Given the description of an element on the screen output the (x, y) to click on. 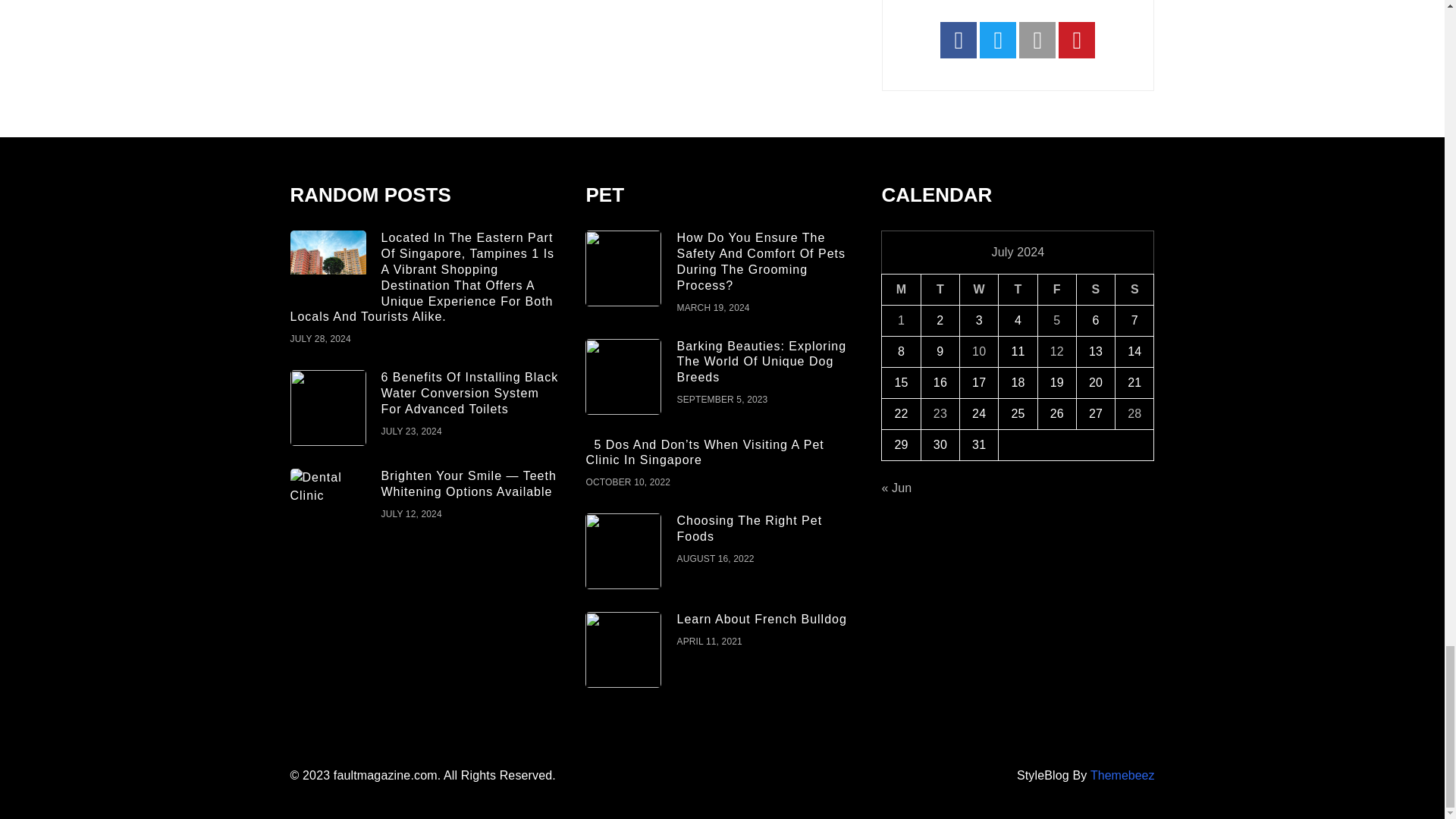
Sunday (1134, 289)
Thursday (1017, 289)
Pinterest (1076, 40)
Monday (901, 289)
Facebook (958, 40)
Tuesday (939, 289)
Saturday (1095, 289)
Twitter (997, 40)
Friday (1055, 289)
LinkedIn (1037, 40)
Wednesday (978, 289)
